Given the description of an element on the screen output the (x, y) to click on. 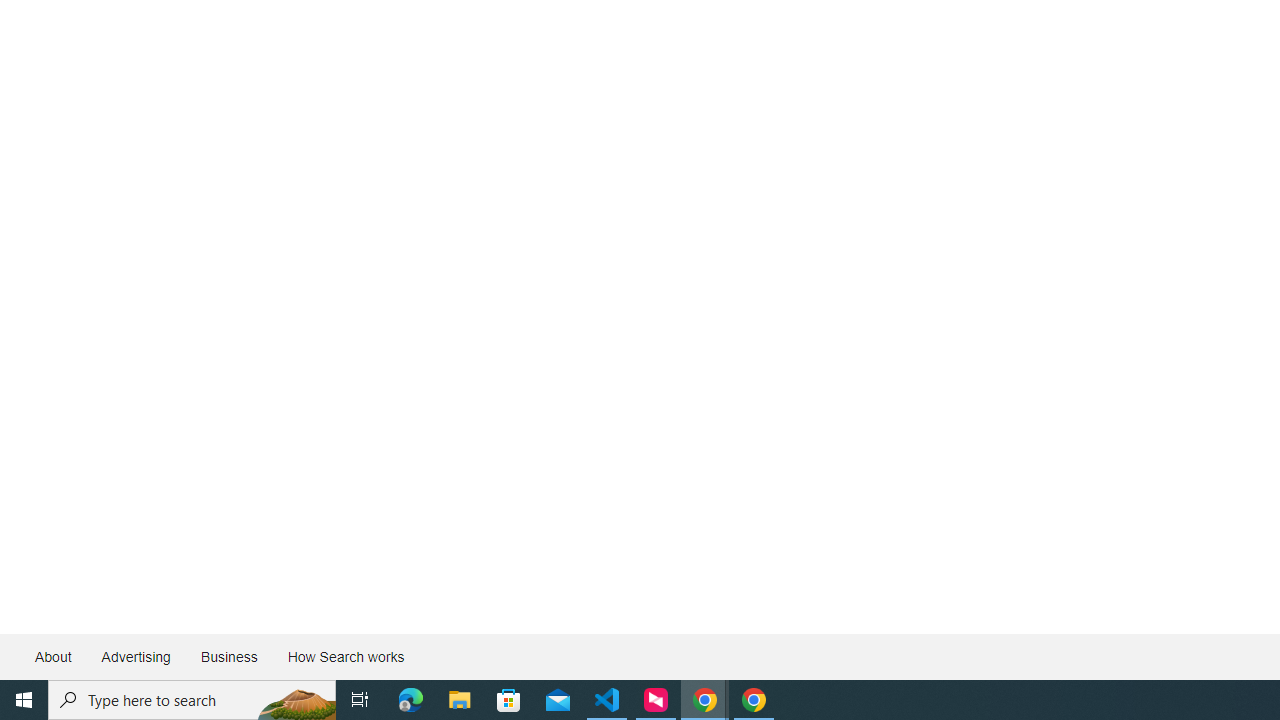
About (53, 656)
Business (228, 656)
Advertising (135, 656)
How Search works (345, 656)
